Given the description of an element on the screen output the (x, y) to click on. 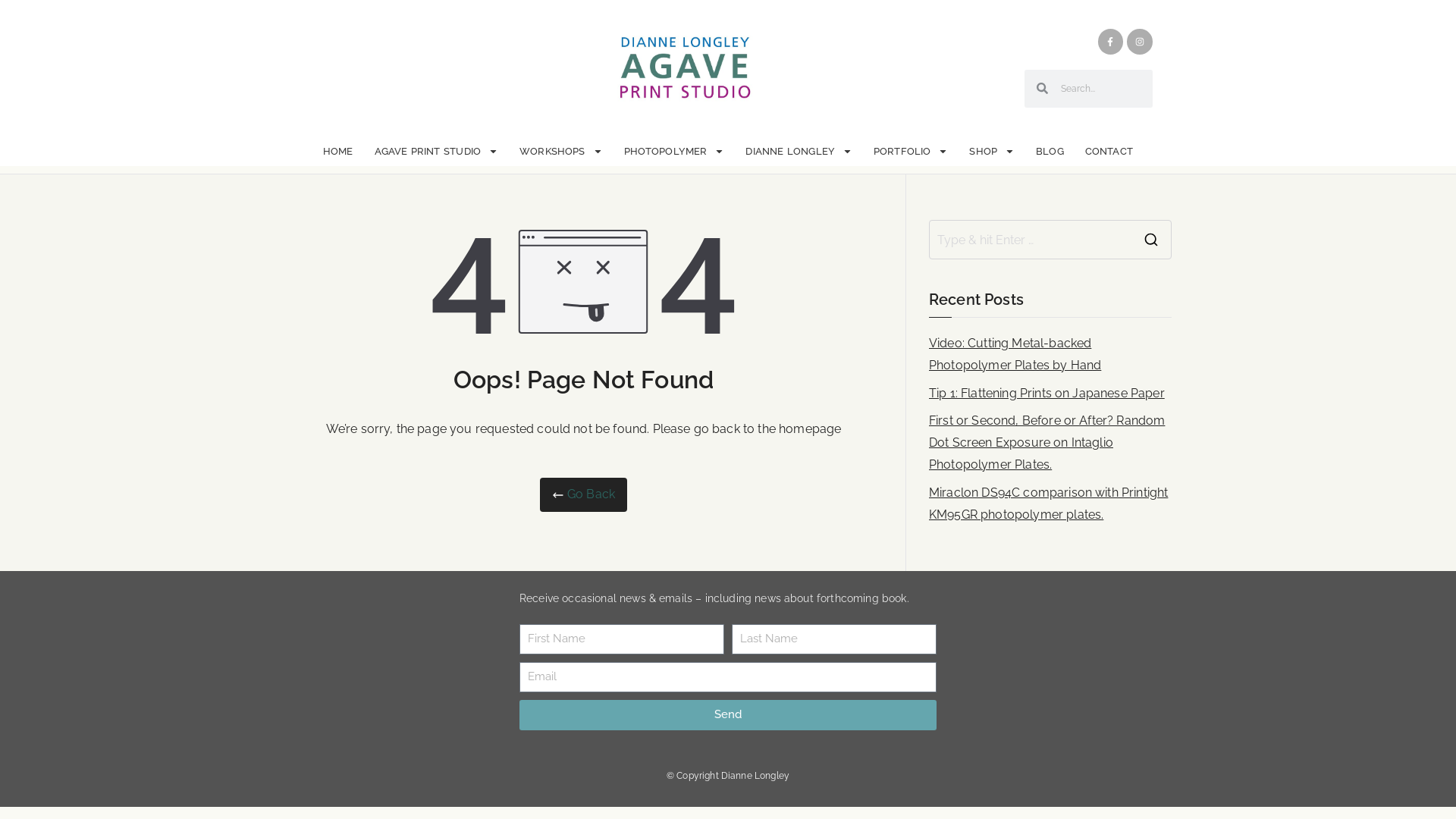
Search for: Element type: hover (1030, 239)
WORKSHOPS Element type: text (560, 151)
AGAVE PRINT STUDIO Element type: text (436, 151)
PORTFOLIO Element type: text (910, 151)
Tip 1: Flattening Prints on Japanese Paper Element type: text (1046, 393)
BLOG Element type: text (1049, 151)
DIANNE LONGLEY Element type: text (798, 151)
HOME Element type: text (338, 151)
PHOTOPOLYMER Element type: text (674, 151)
Go Back Element type: text (583, 494)
CONTACT Element type: text (1108, 151)
Send Element type: text (727, 714)
SHOP Element type: text (991, 151)
Video: Cutting Metal-backed Photopolymer Plates by Hand Element type: text (1049, 354)
Search Element type: text (27, 18)
